Given the description of an element on the screen output the (x, y) to click on. 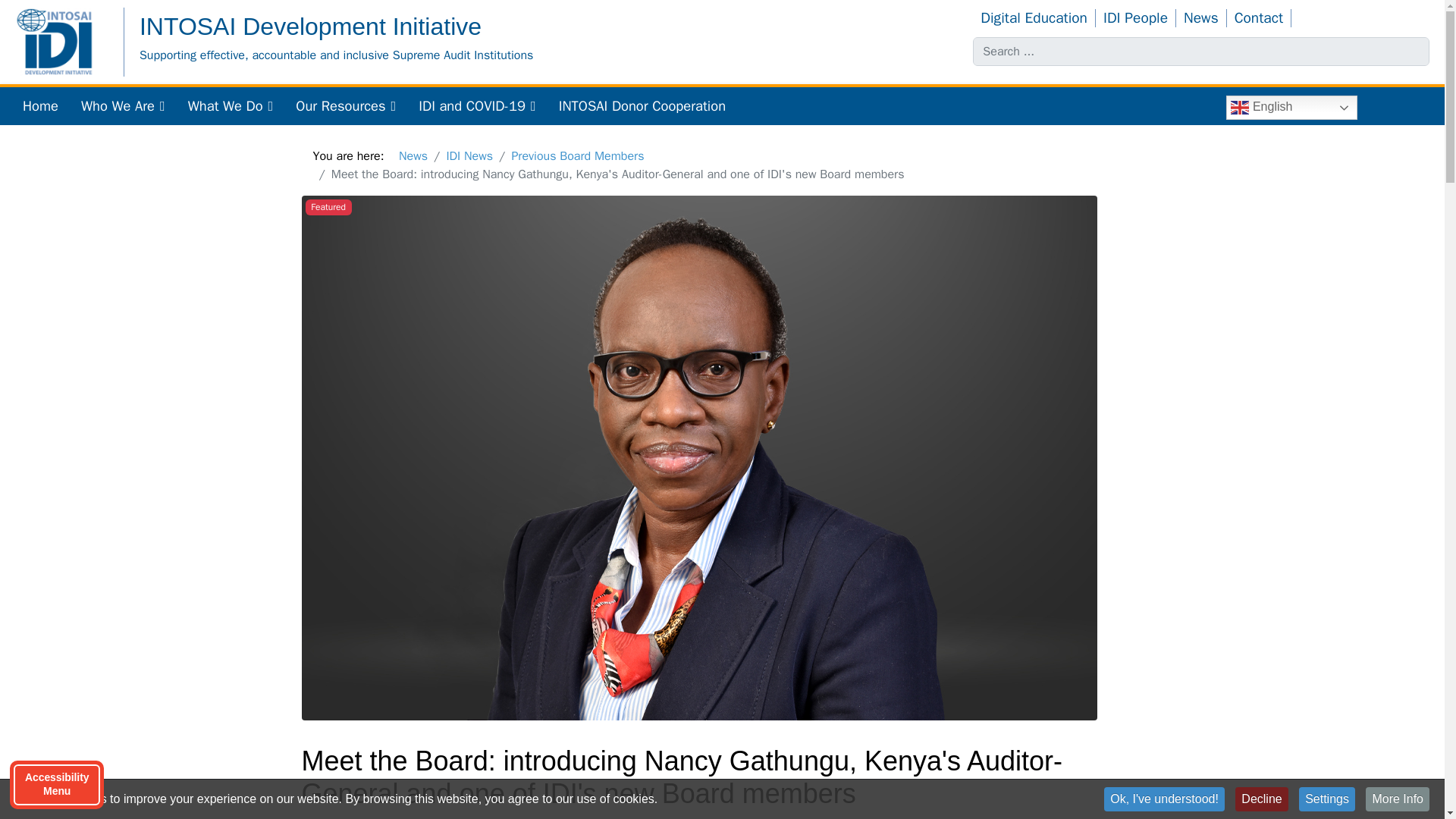
IDI People (1136, 18)
Digital Education (1034, 18)
Contact (1259, 18)
News (1201, 18)
Accessibility Menu (56, 784)
